Given the description of an element on the screen output the (x, y) to click on. 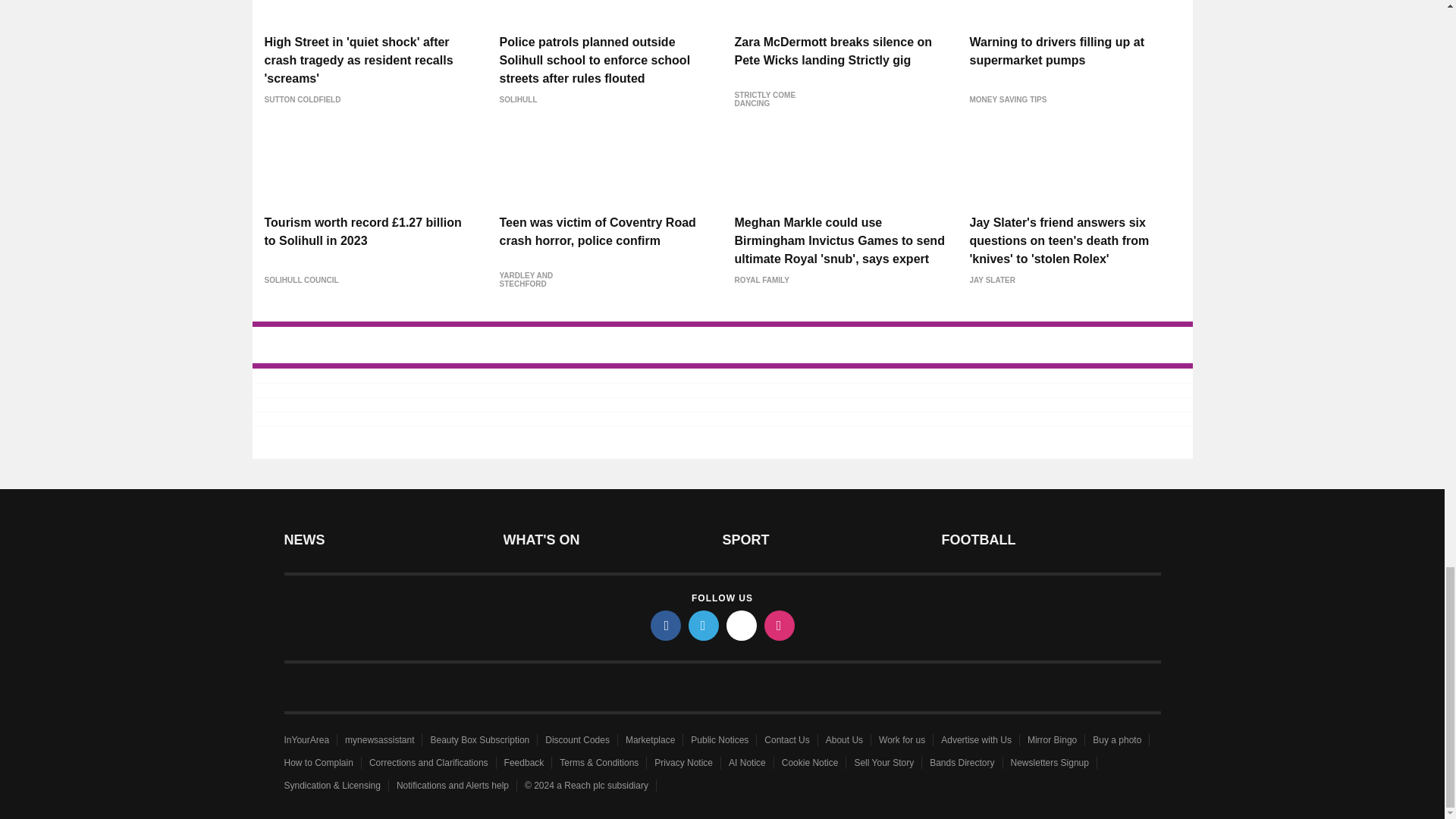
twitter (703, 625)
instagram (779, 625)
facebook (665, 625)
tiktok (741, 625)
